Given the description of an element on the screen output the (x, y) to click on. 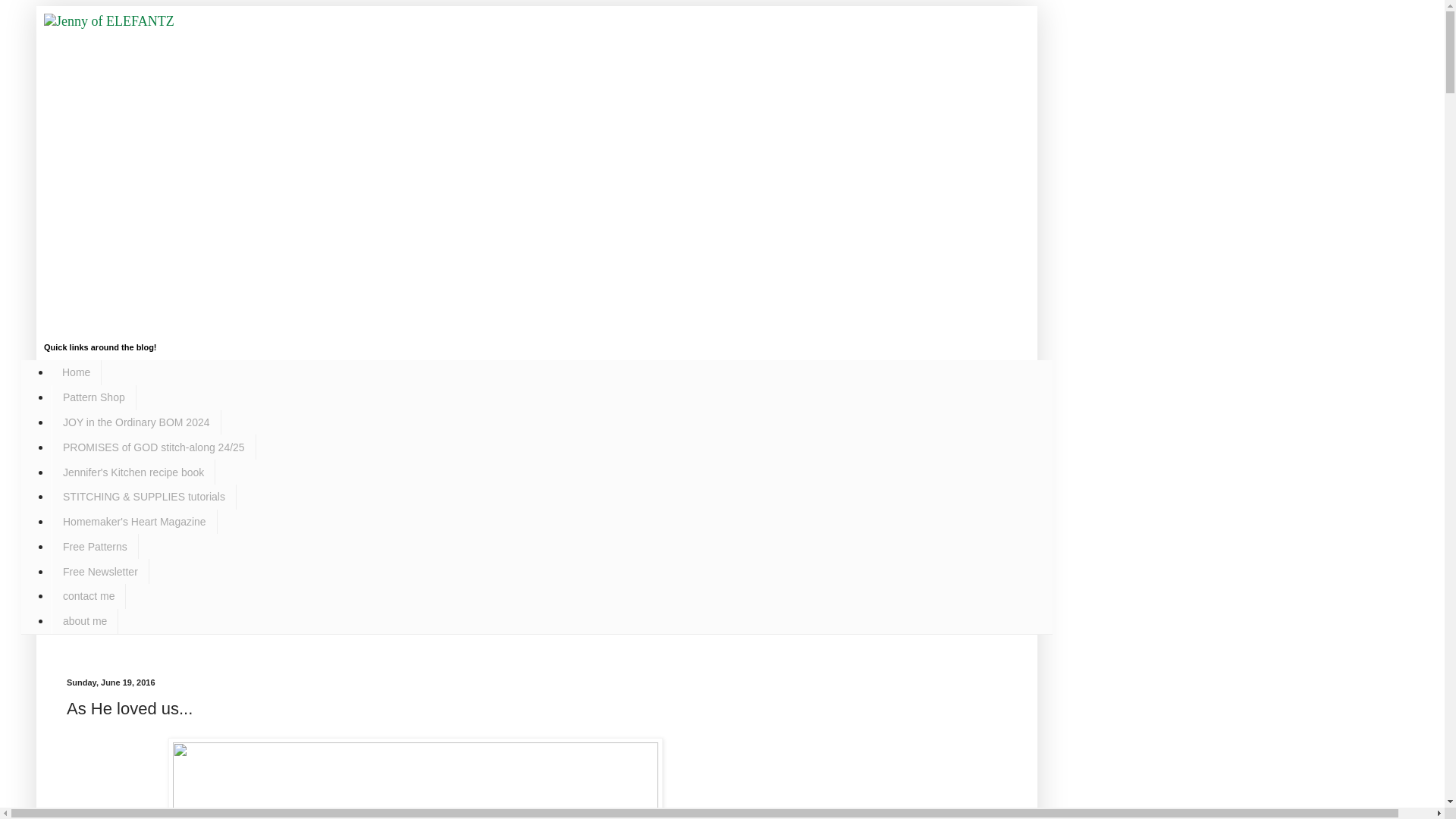
Pattern Shop (93, 397)
about me (83, 621)
Homemaker's Heart Magazine (133, 521)
Free Patterns (94, 545)
Home (75, 372)
JOY in the Ordinary BOM 2024 (135, 422)
Free Newsletter (99, 570)
contact me (87, 596)
Jennifer's Kitchen recipe book (132, 471)
